Given the description of an element on the screen output the (x, y) to click on. 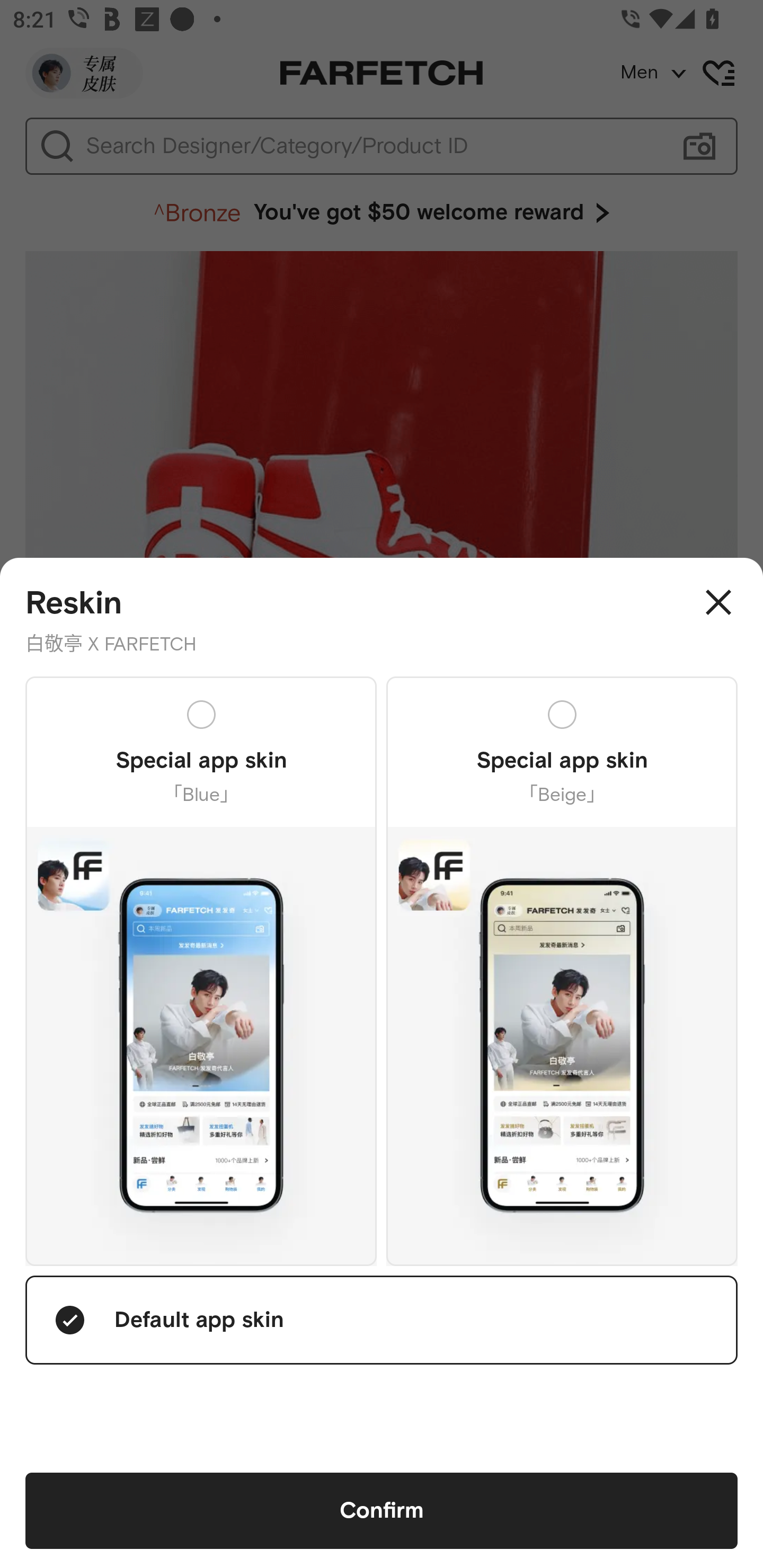
Special app skin 「Blue」 (200, 970)
Special app skin 「Beige」 (561, 970)
Default app skin (381, 1320)
Confirm (381, 1510)
